Given the description of an element on the screen output the (x, y) to click on. 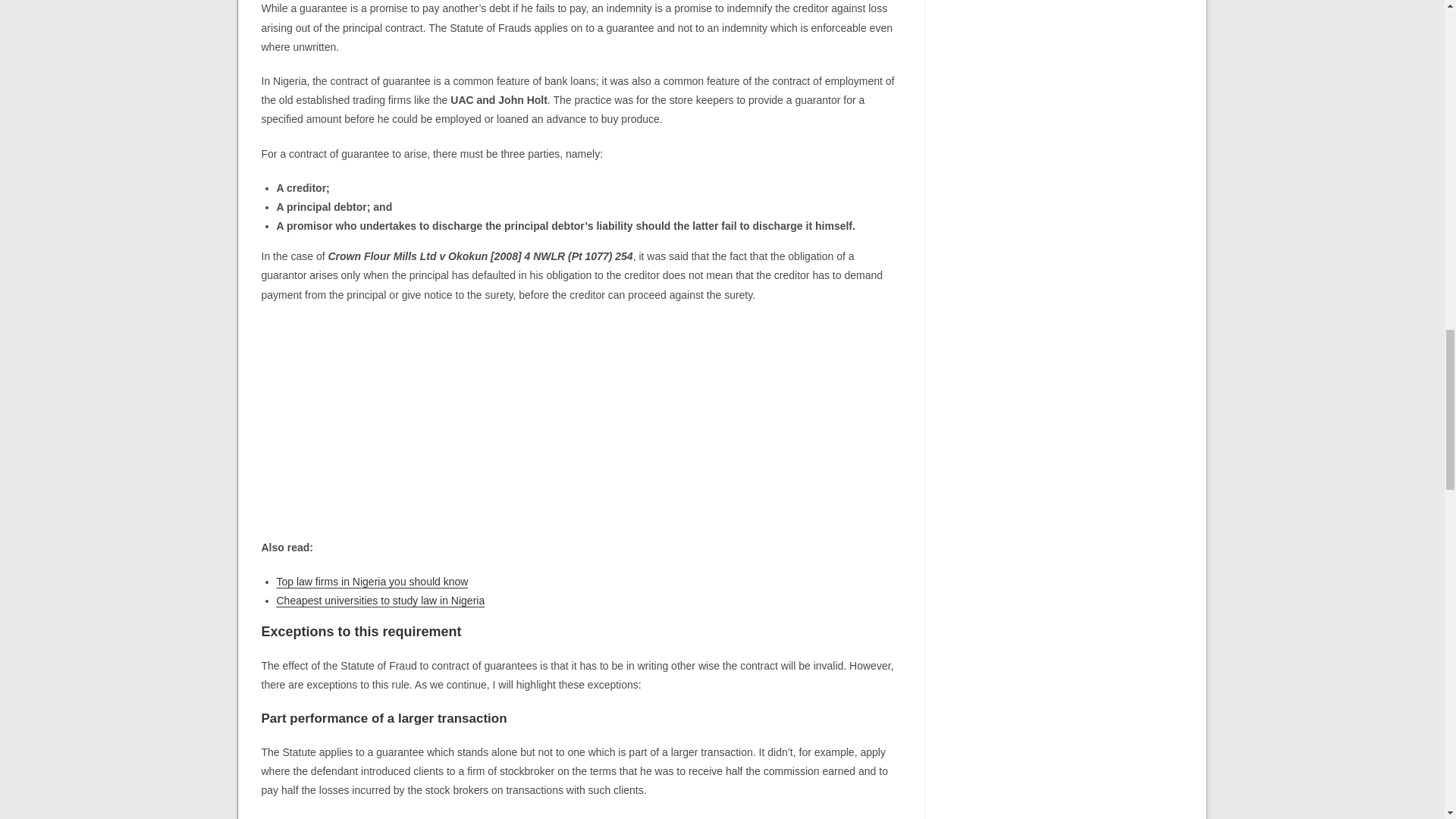
Top law firms in Nigeria you should know (371, 581)
Cheapest universities to study law in Nigeria (380, 600)
